Given the description of an element on the screen output the (x, y) to click on. 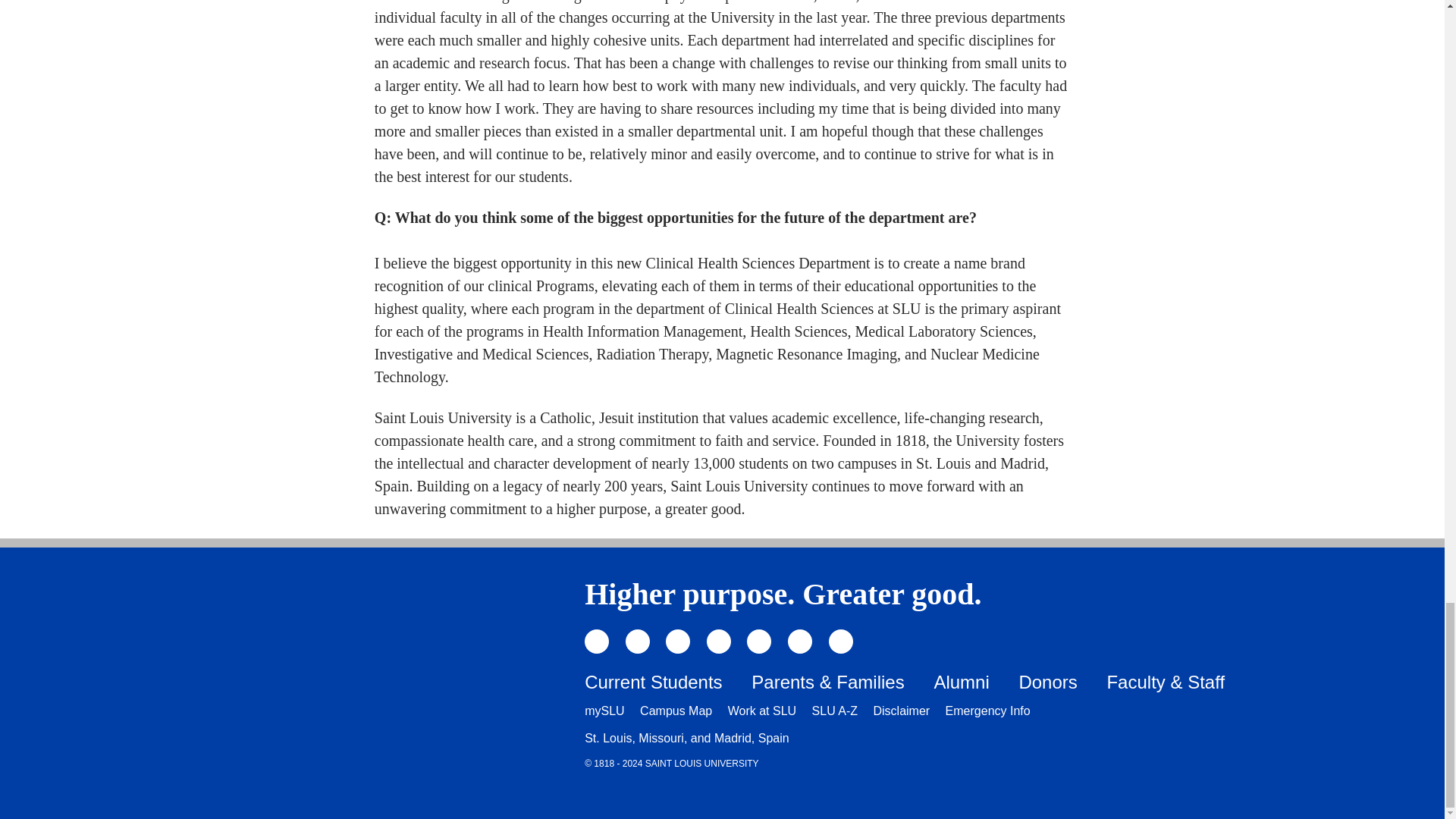
Campus Map (675, 710)
Current Students (653, 681)
mySLU (604, 710)
Donors (1047, 681)
Alumni (960, 681)
